Given the description of an element on the screen output the (x, y) to click on. 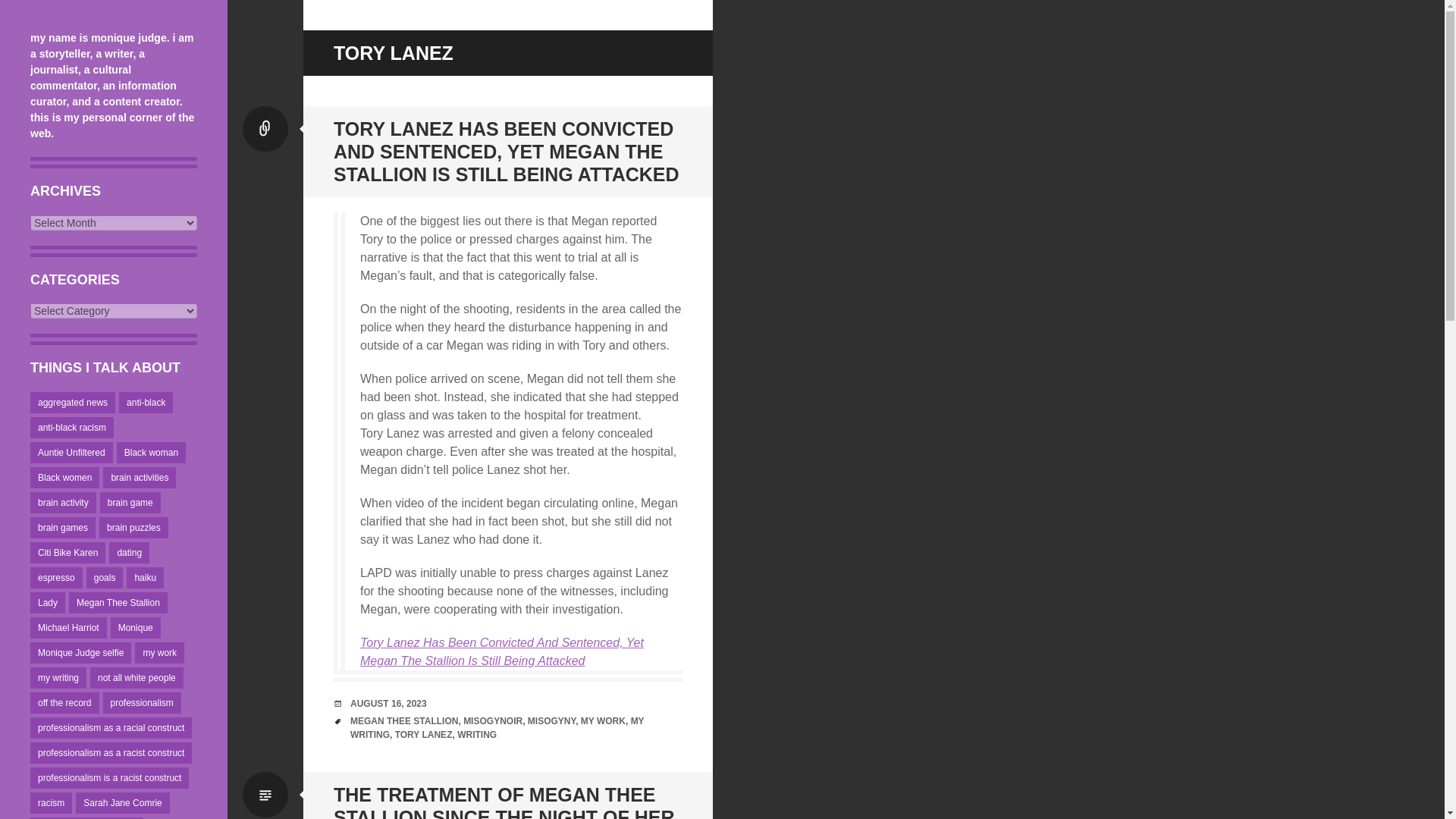
goals (104, 577)
Megan Thee Stallion (117, 602)
racism (50, 803)
anti-black (146, 402)
professionalism is a racist construct (109, 777)
Sarah Jane Comrie (121, 803)
Michael Harriot (68, 627)
Monique (135, 627)
Lady (47, 602)
professionalism as a racist construct (111, 752)
